Given the description of an element on the screen output the (x, y) to click on. 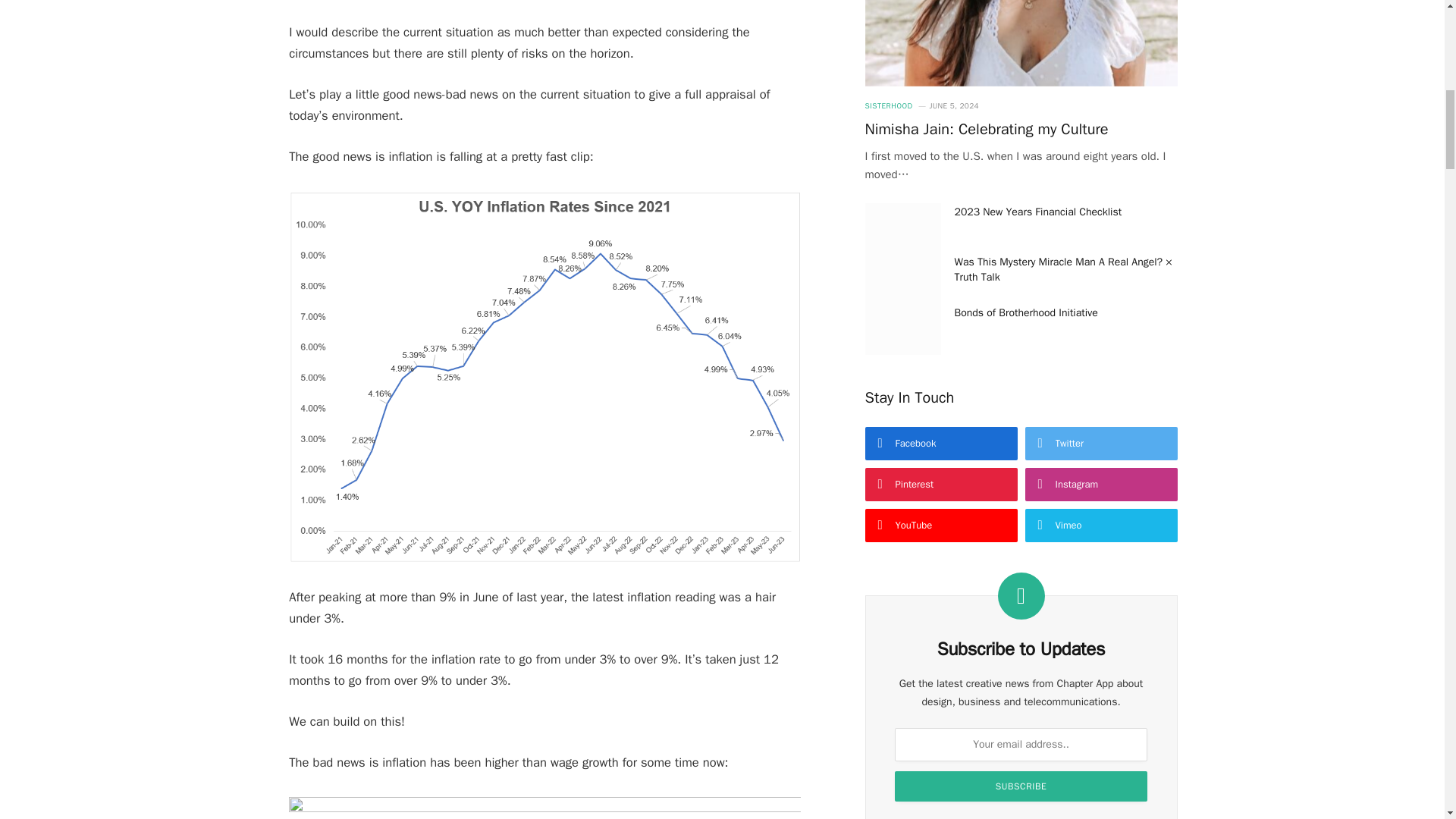
Subscribe (1021, 786)
